Given the description of an element on the screen output the (x, y) to click on. 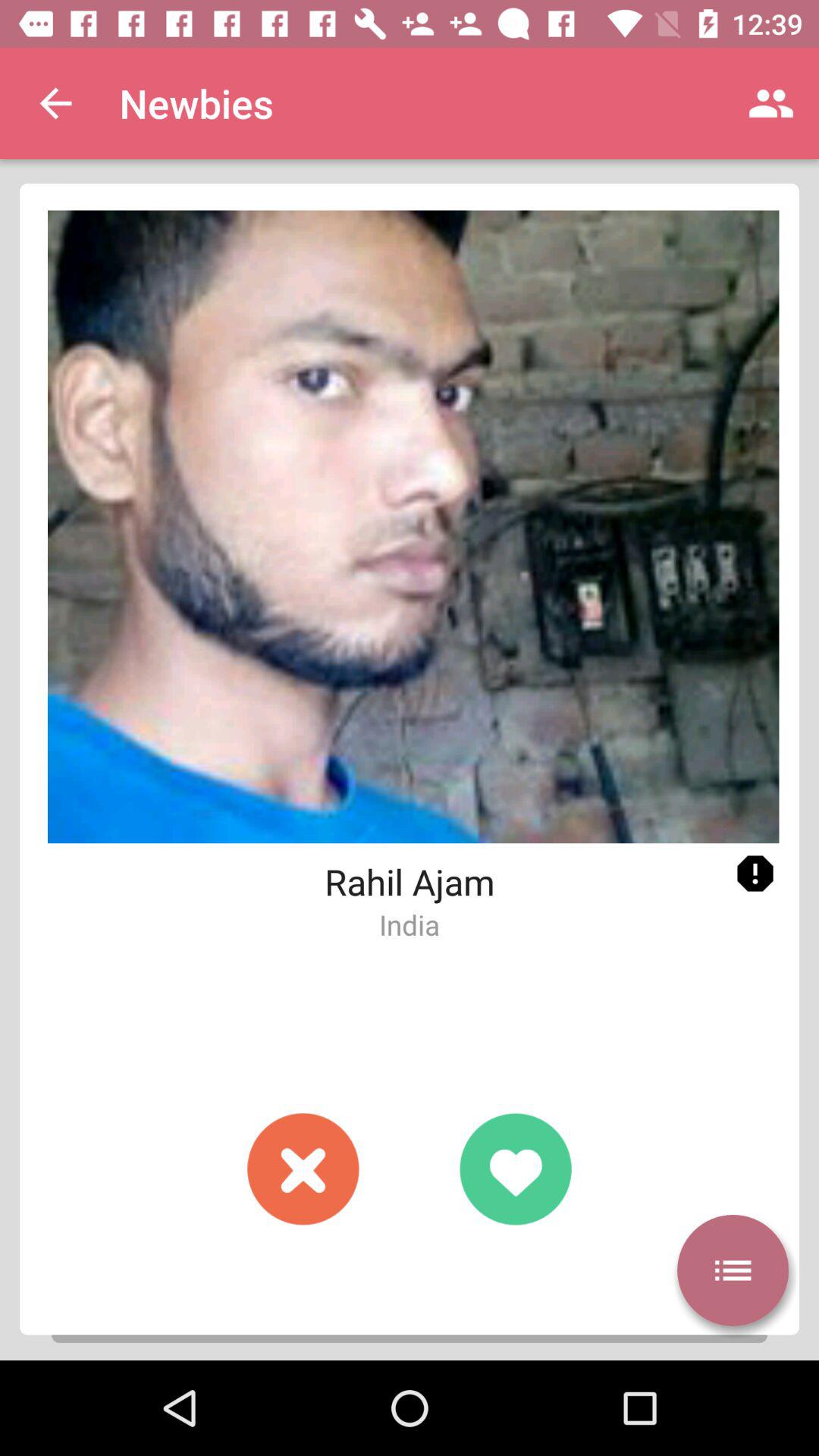
swipe right i like them (515, 1169)
